Given the description of an element on the screen output the (x, y) to click on. 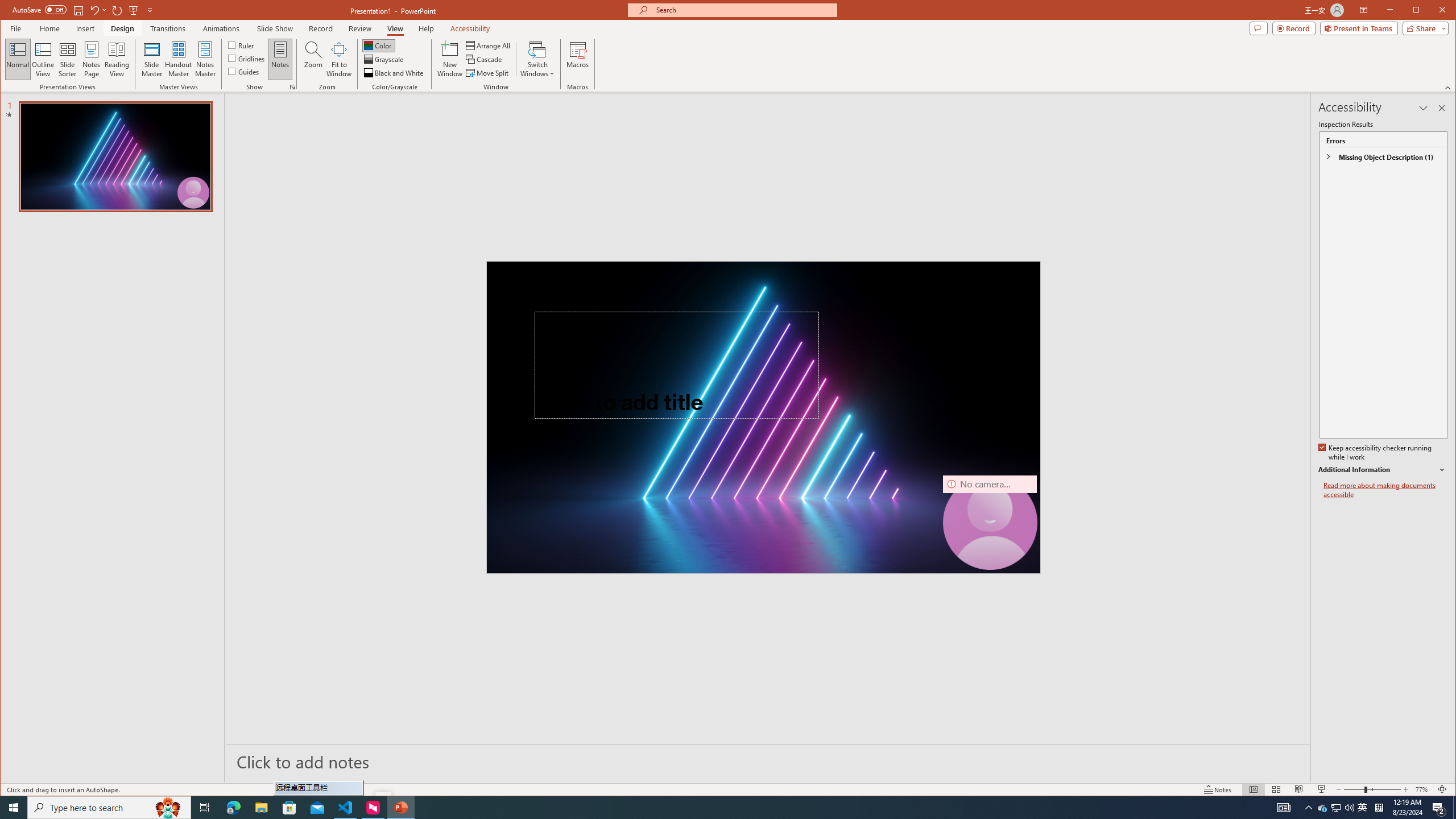
Running applications (700, 807)
Microsoft Edge (233, 807)
Slide Notes (767, 761)
Gridlines (246, 57)
Guides (1322, 807)
